Given the description of an element on the screen output the (x, y) to click on. 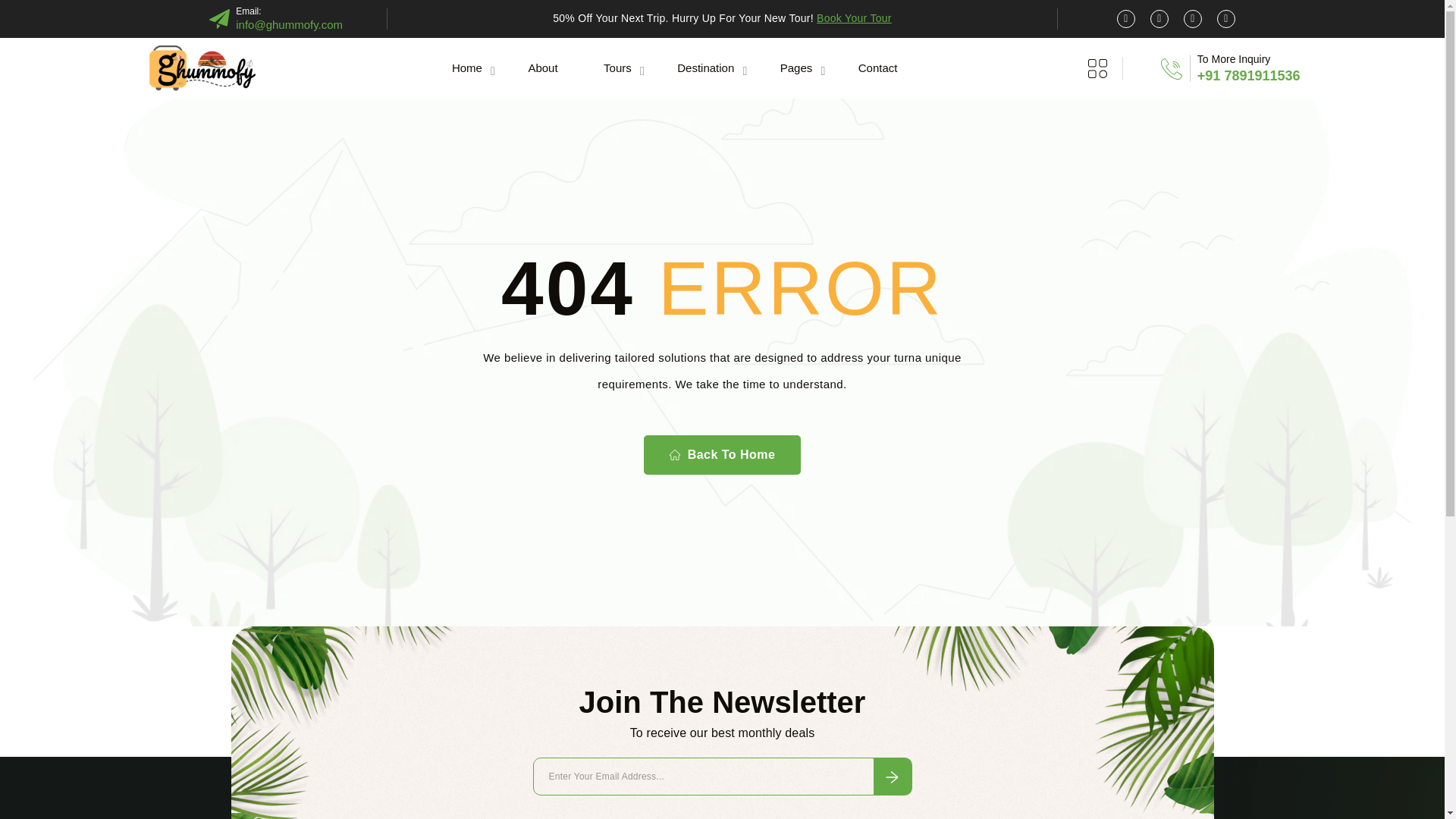
Tours (617, 67)
About (542, 67)
Book Your Tour (853, 18)
Home (466, 67)
